Given the description of an element on the screen output the (x, y) to click on. 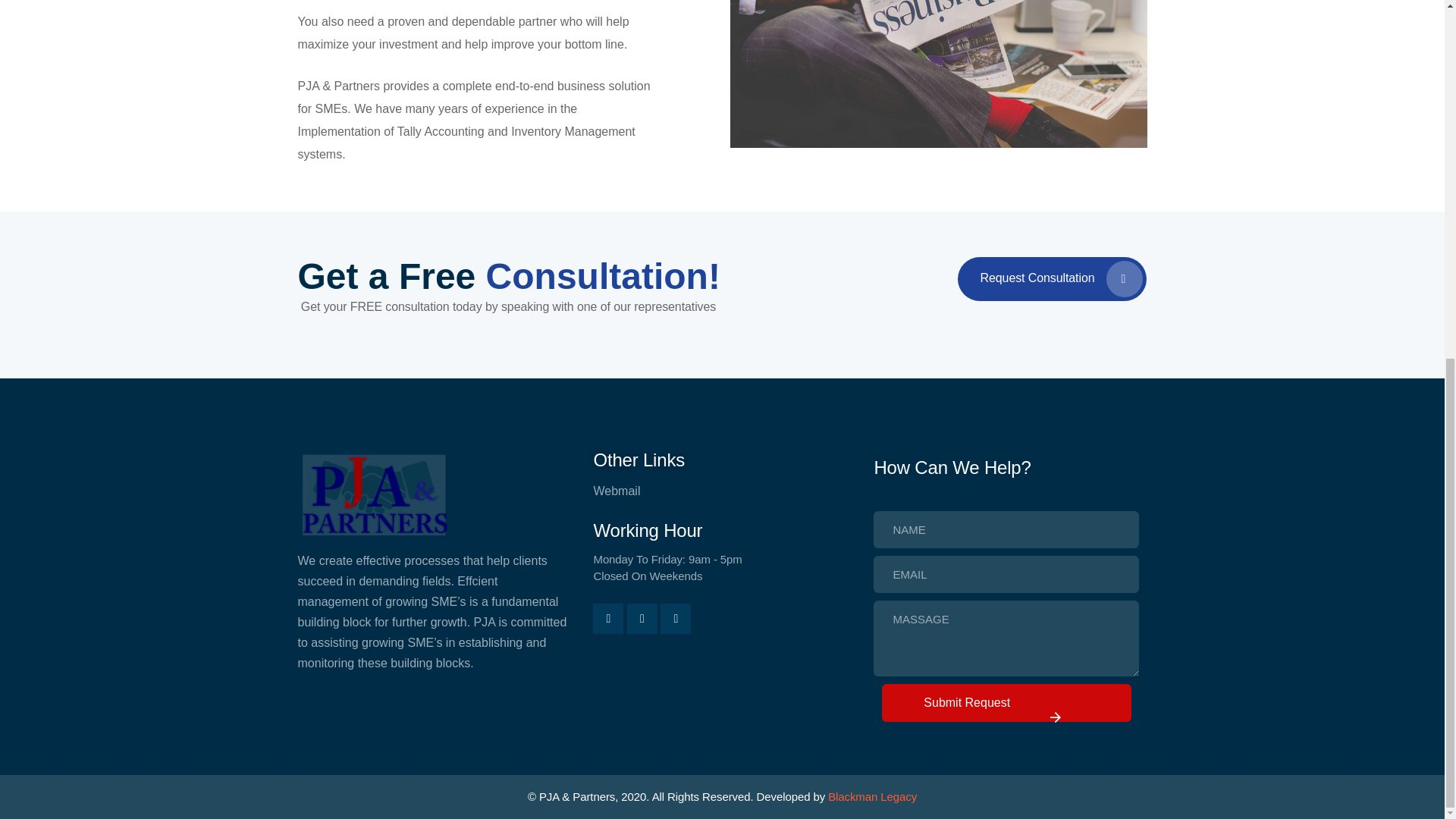
Submit Request (1006, 702)
Page 4 (505, 83)
Request Consultation (1052, 279)
Webmail (721, 491)
Submit Request (1006, 616)
Blackman Legacy (872, 796)
